Given the description of an element on the screen output the (x, y) to click on. 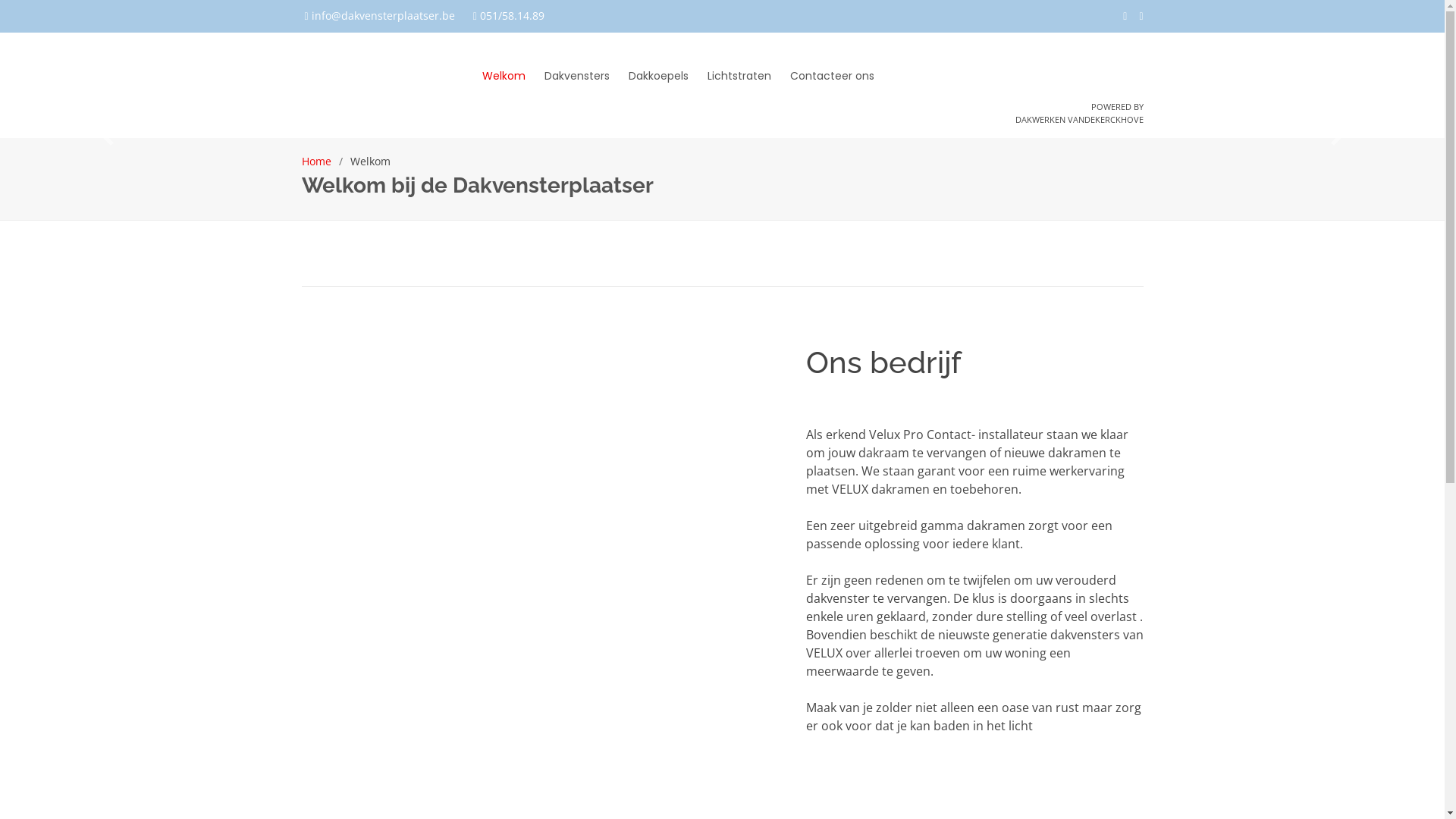
Dakkoepels Element type: text (648, 79)
Welkom Element type: text (493, 79)
info@dakvensterplaatser.be Element type: text (383, 15)
Dakvensters Element type: text (566, 79)
051/58.14.89 Element type: text (512, 15)
Lichtstraten Element type: text (729, 79)
Home Element type: text (316, 160)
Contacteer ons Element type: text (821, 79)
